Given the description of an element on the screen output the (x, y) to click on. 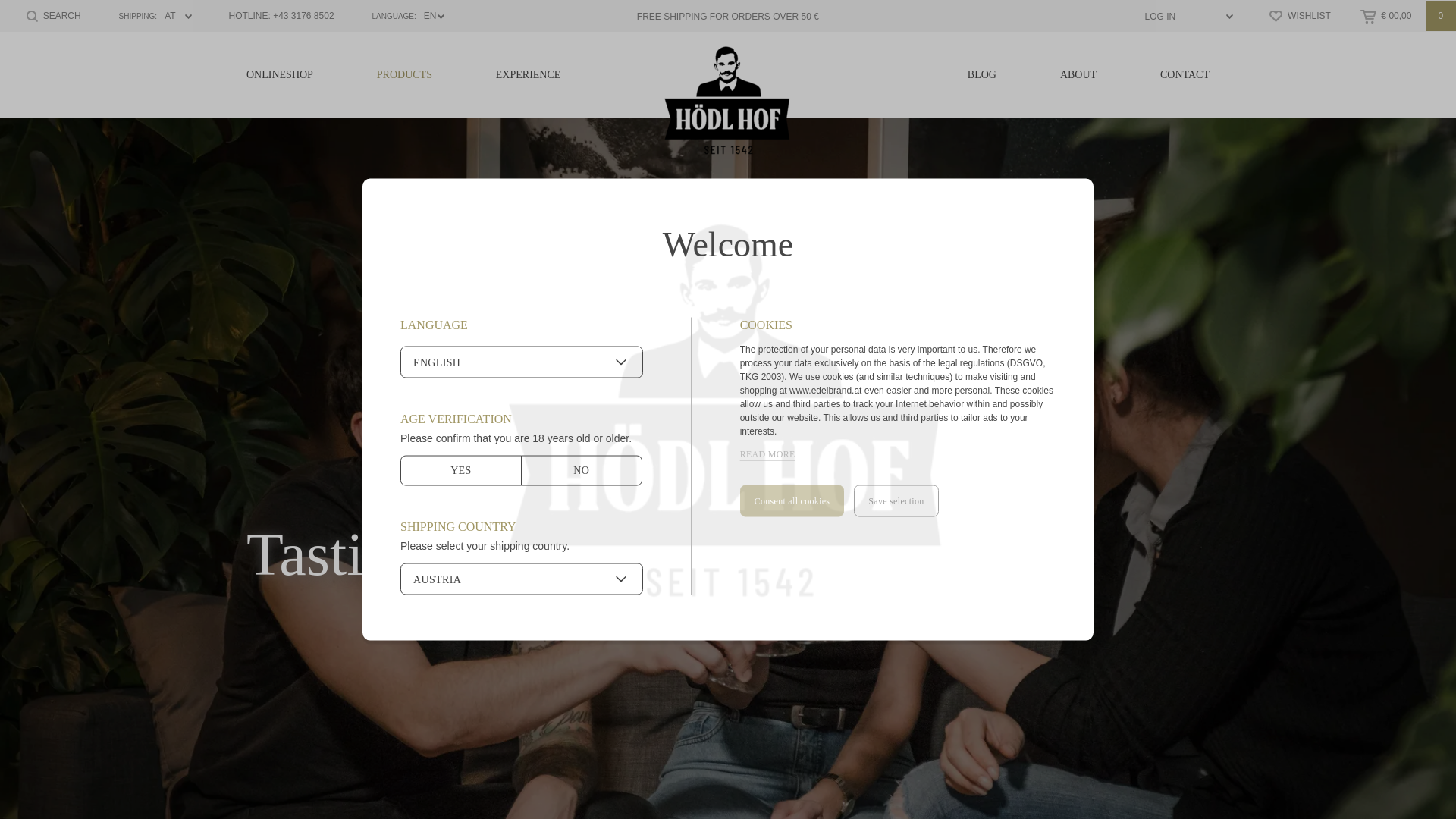
Log in (1182, 16)
Search (53, 15)
  WISHLIST (1299, 15)
at (149, 15)
SHIPPING:AT (149, 15)
LANGUAGE:EN (401, 15)
EN (401, 15)
Wishlist (1299, 15)
LOG IN (1182, 16)
  SEARCH (53, 15)
